Given the description of an element on the screen output the (x, y) to click on. 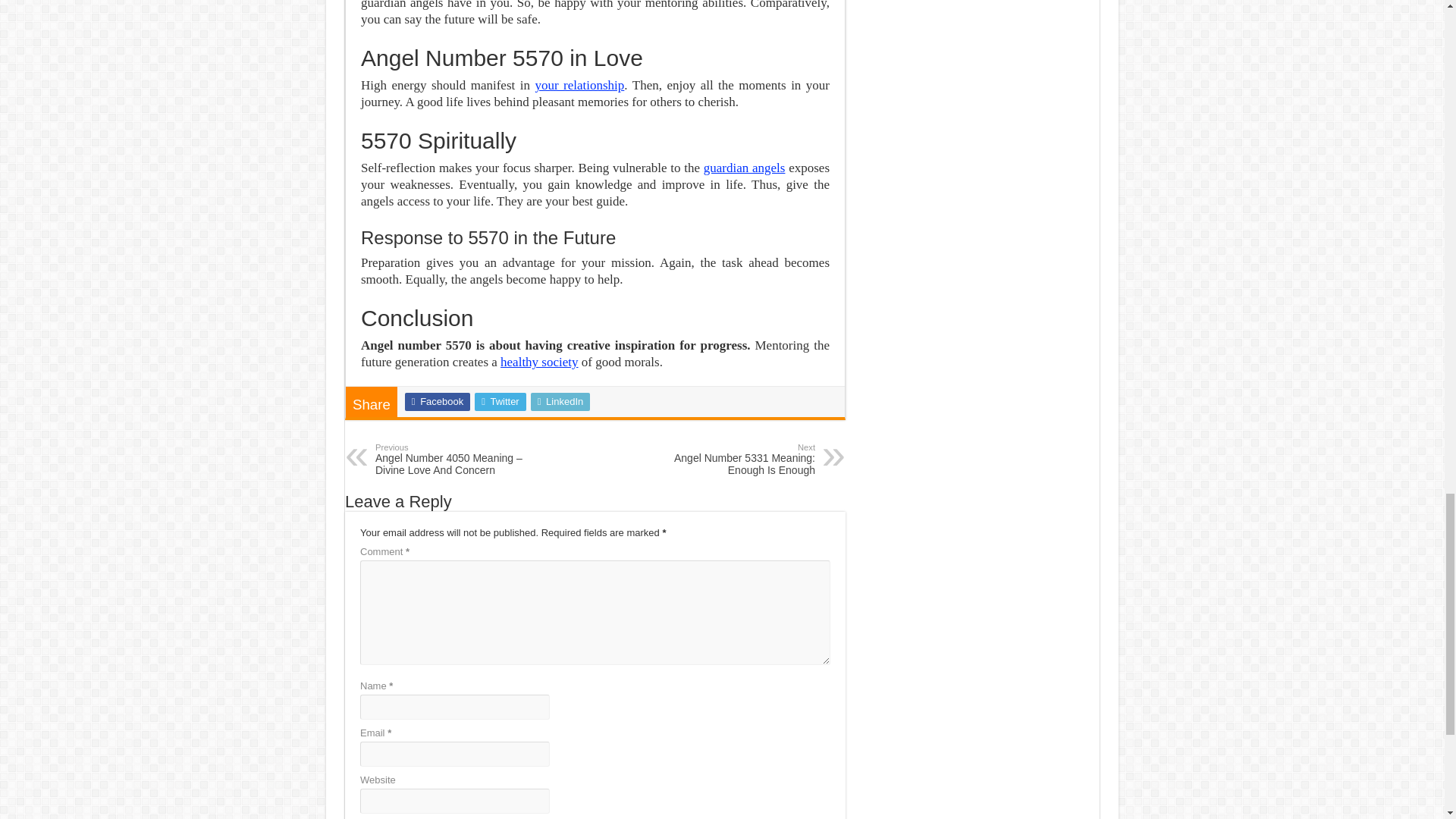
LinkedIn (561, 402)
your relationship (579, 84)
healthy society (539, 361)
Twitter (499, 402)
guardian angels (744, 167)
Facebook (437, 402)
